Given the description of an element on the screen output the (x, y) to click on. 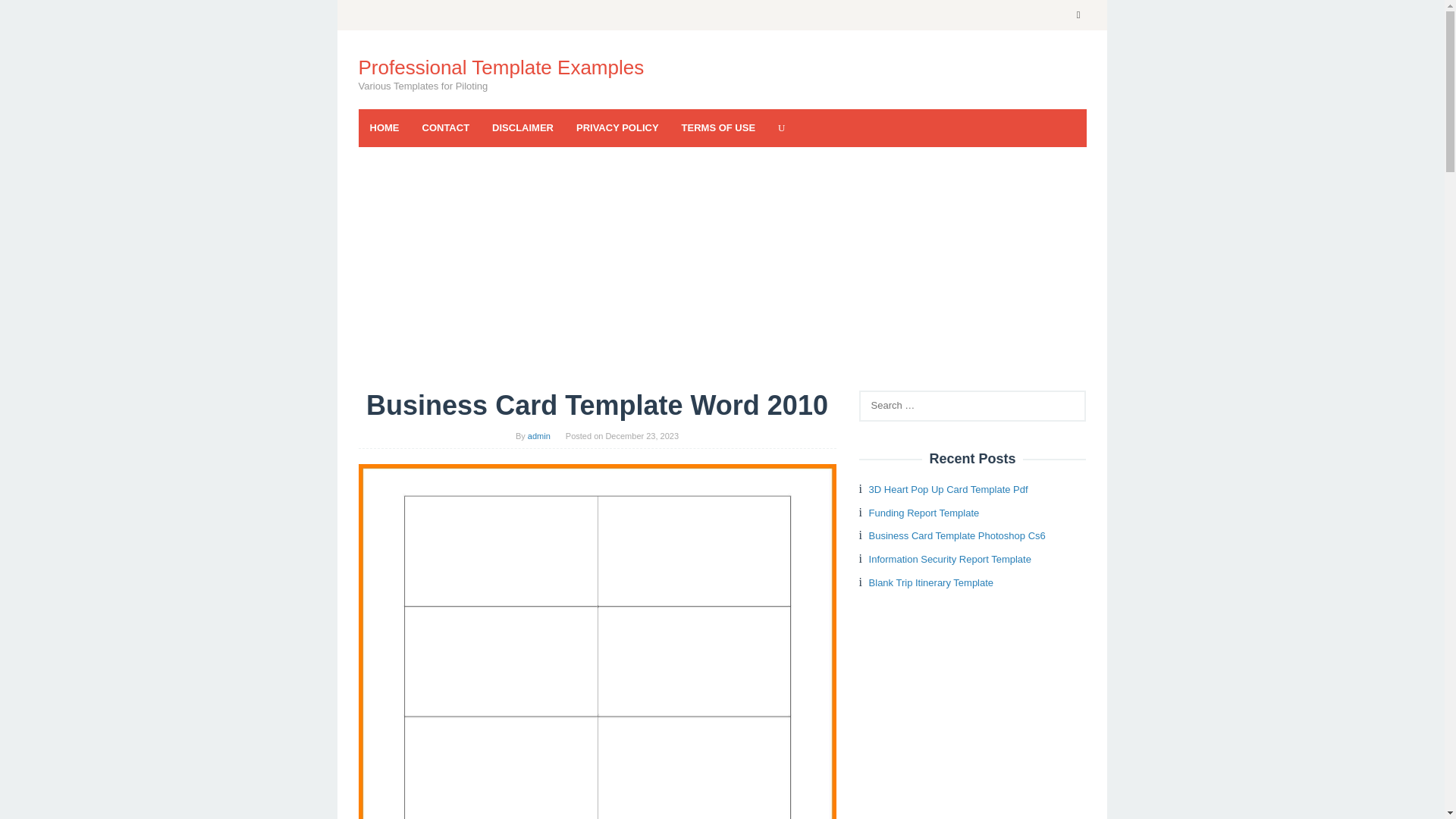
Funding Report Template (924, 512)
3D Heart Pop Up Card Template Pdf (948, 489)
PRIVACY POLICY (616, 127)
Information Security Report Template (949, 559)
TERMS OF USE (718, 127)
Professional Template Examples (500, 67)
CONTACT (445, 127)
Business Card Template Photoshop Cs6 (957, 535)
HOME (384, 127)
Blank Trip Itinerary Template (931, 582)
